Given the description of an element on the screen output the (x, y) to click on. 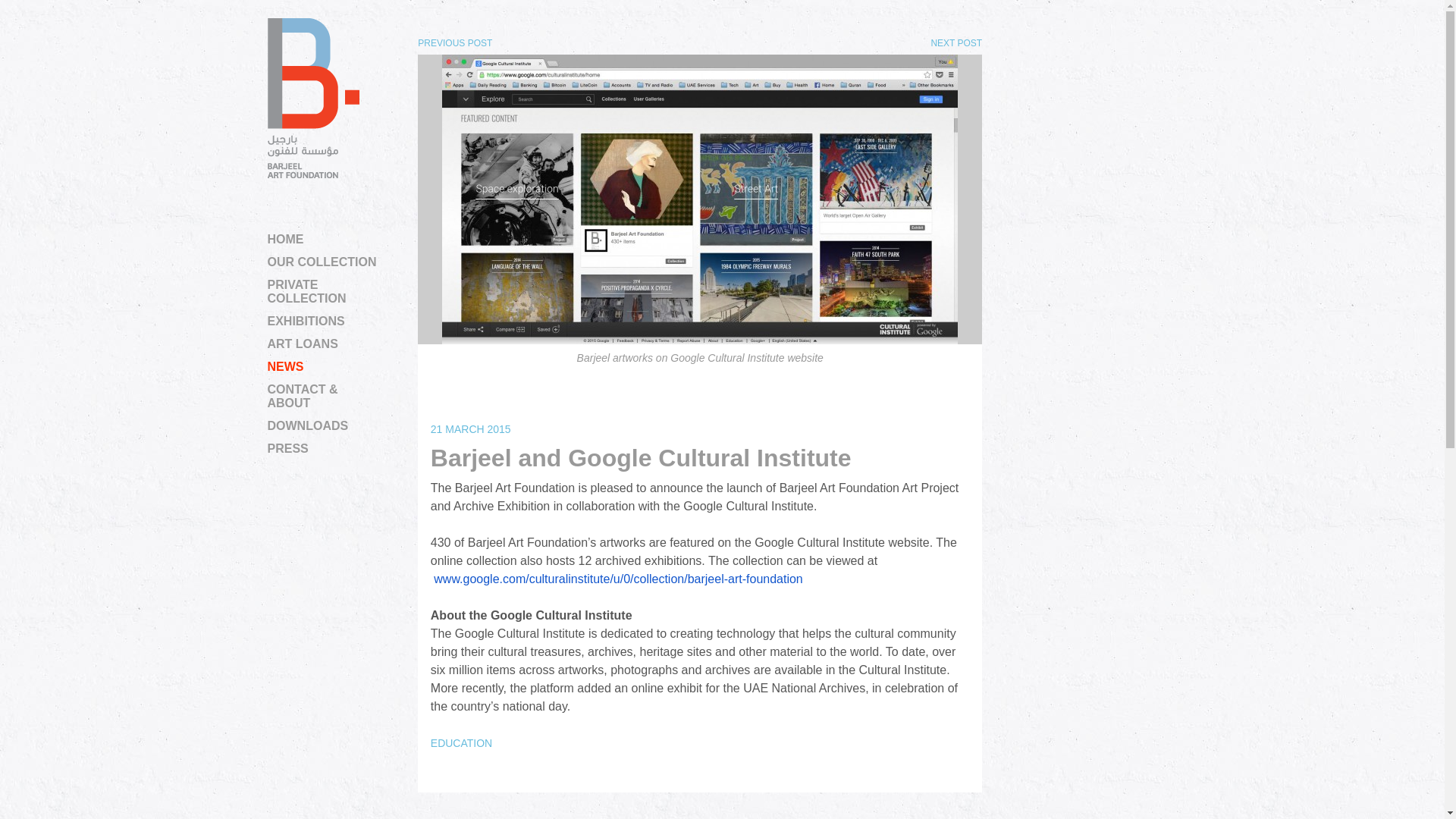
EXHIBITIONS (322, 321)
PRIVATE COLLECTION (322, 291)
OUR COLLECTION (322, 262)
PREVIOUS POST (454, 42)
NEXT POST (955, 42)
SKIP TO CONTENT (320, 241)
PRESS (322, 448)
DOWNLOADS (322, 426)
EDUCATION (461, 743)
ART LOANS (322, 344)
